Given the description of an element on the screen output the (x, y) to click on. 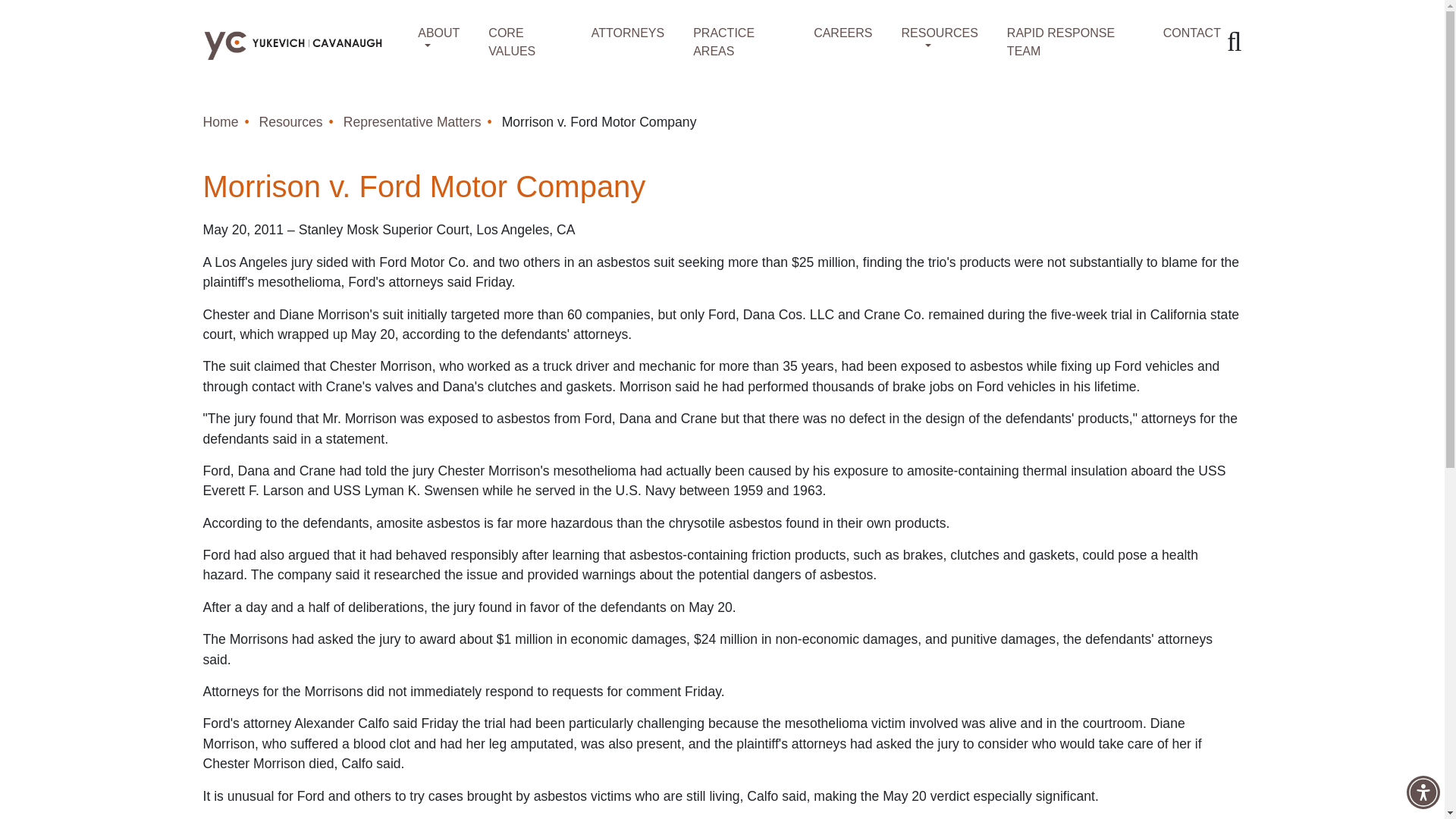
Representative Matters (412, 121)
RESOURCES (930, 33)
Home (220, 121)
Accessibility Menu (1422, 792)
ABOUT (429, 33)
Resources (291, 121)
CAREERS (833, 33)
PRACTICE AREAS (729, 42)
ATTORNEYS (619, 33)
CORE VALUES (517, 42)
